Given the description of an element on the screen output the (x, y) to click on. 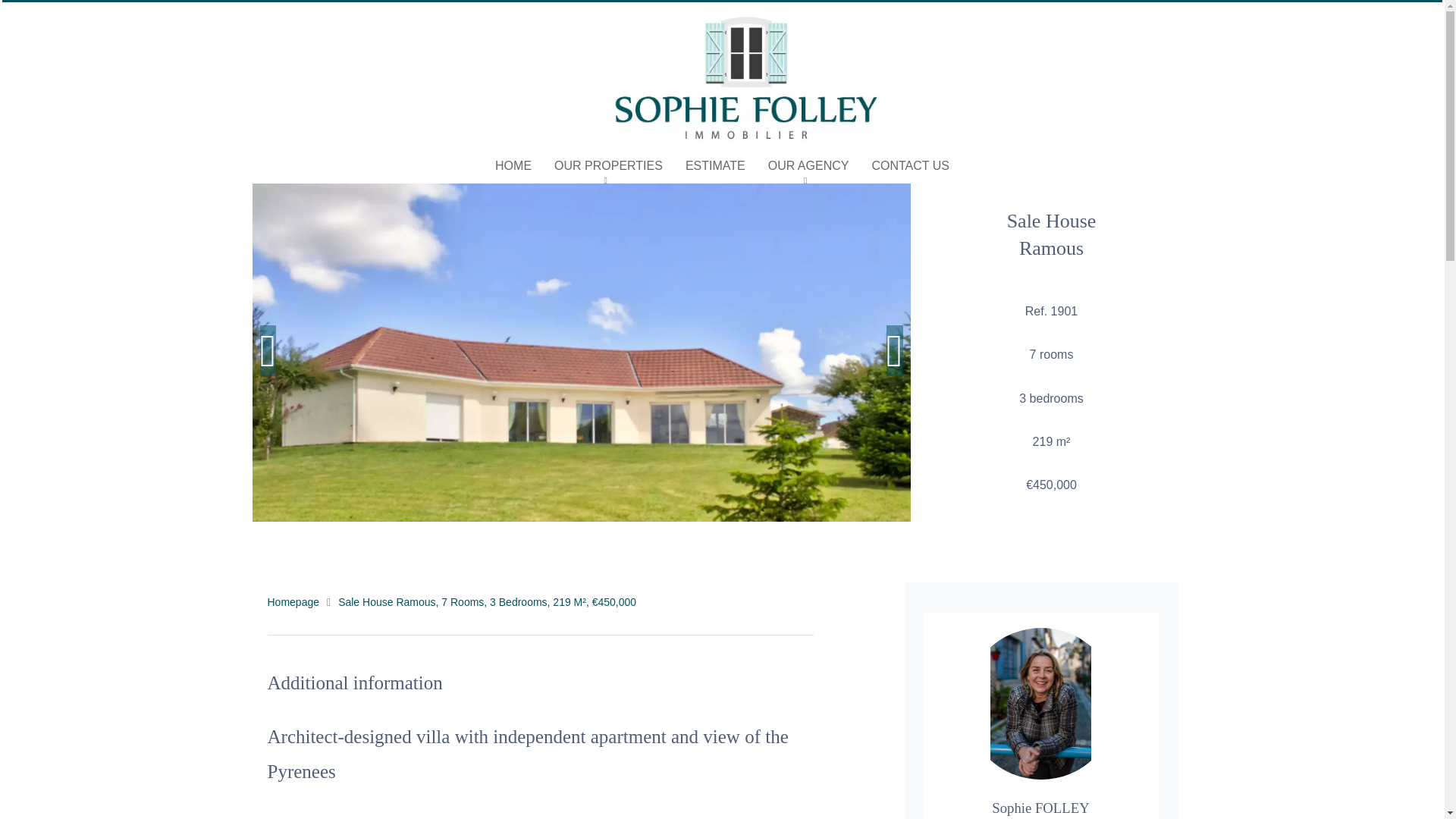
Homepage (292, 602)
CONTACT US (909, 164)
ESTIMATE (715, 164)
HOME (513, 164)
OUR AGENCY (808, 164)
OUR PROPERTIES (608, 164)
